Given the description of an element on the screen output the (x, y) to click on. 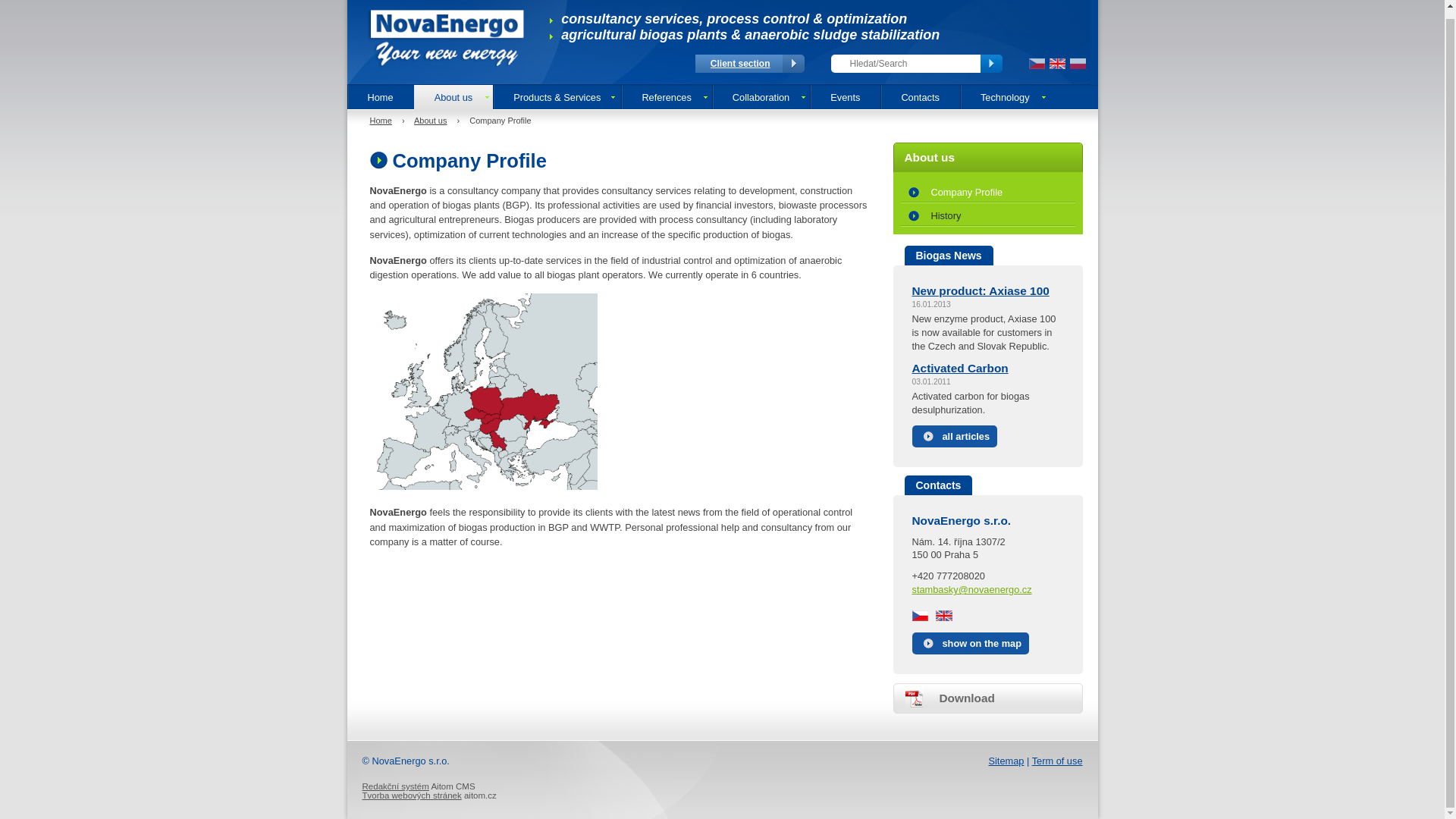
Home (380, 120)
CMS Aitom (395, 786)
About us (429, 120)
About us (453, 97)
Client section (740, 63)
Events (844, 97)
Technology (1004, 97)
NovaEnergo teritory (482, 391)
Company Profile (988, 190)
Home (380, 97)
